Given the description of an element on the screen output the (x, y) to click on. 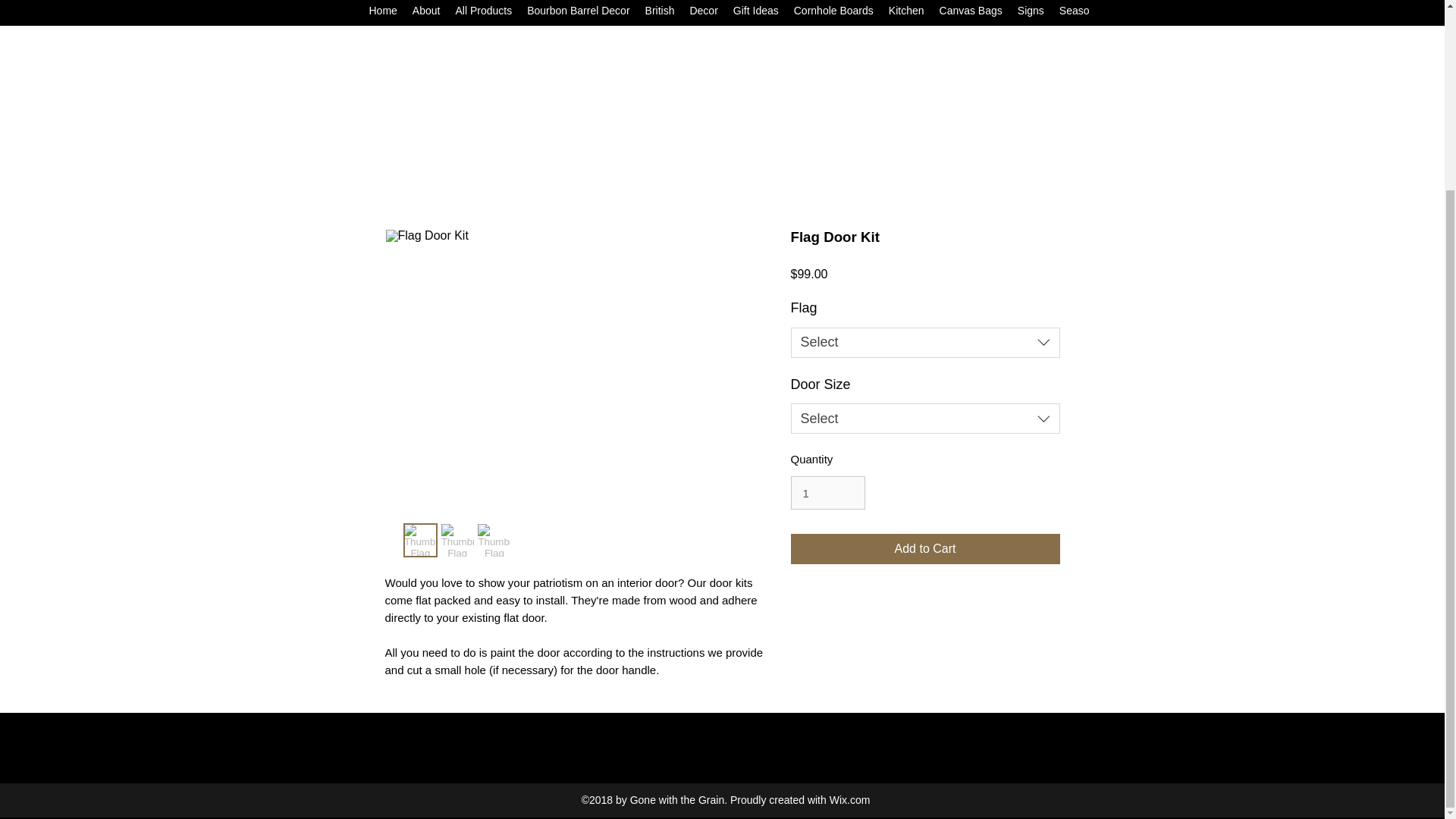
Cornhole Boards (833, 13)
1 (827, 492)
Home (382, 13)
About (426, 13)
Canvas Bags (970, 13)
Gift Ideas (755, 13)
Kitchen (905, 13)
All Products (482, 13)
Bourbon Barrel Decor (578, 13)
Select (924, 342)
